Given the description of an element on the screen output the (x, y) to click on. 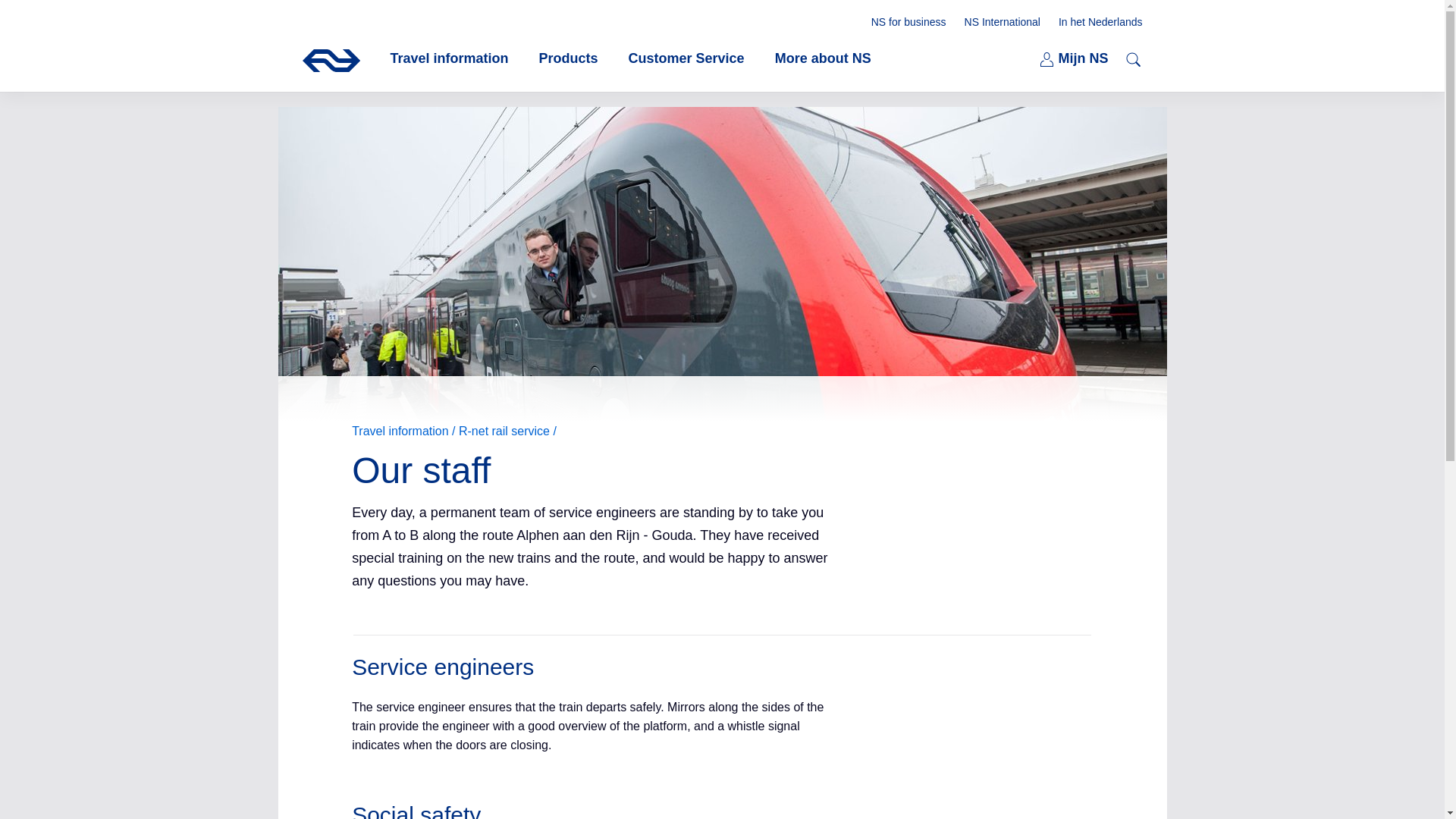
Go to the homepage of ns.nl (568, 58)
